Given the description of an element on the screen output the (x, y) to click on. 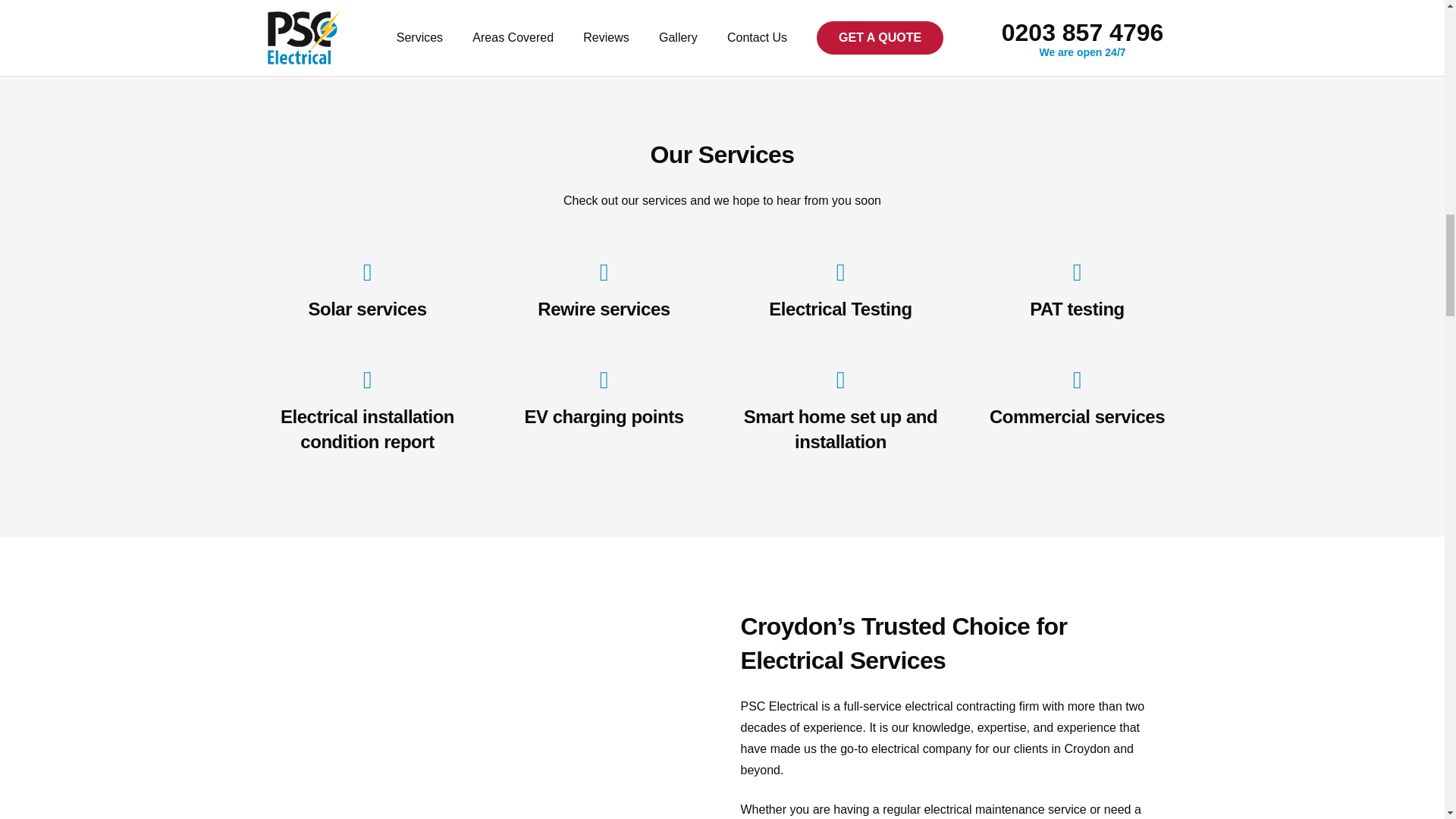
Solar and Battery Storage (366, 273)
EICR Testing (839, 309)
Solar and Battery Storage (366, 309)
Rewire (603, 309)
Rewire (603, 273)
EICR Testing (839, 273)
